Given the description of an element on the screen output the (x, y) to click on. 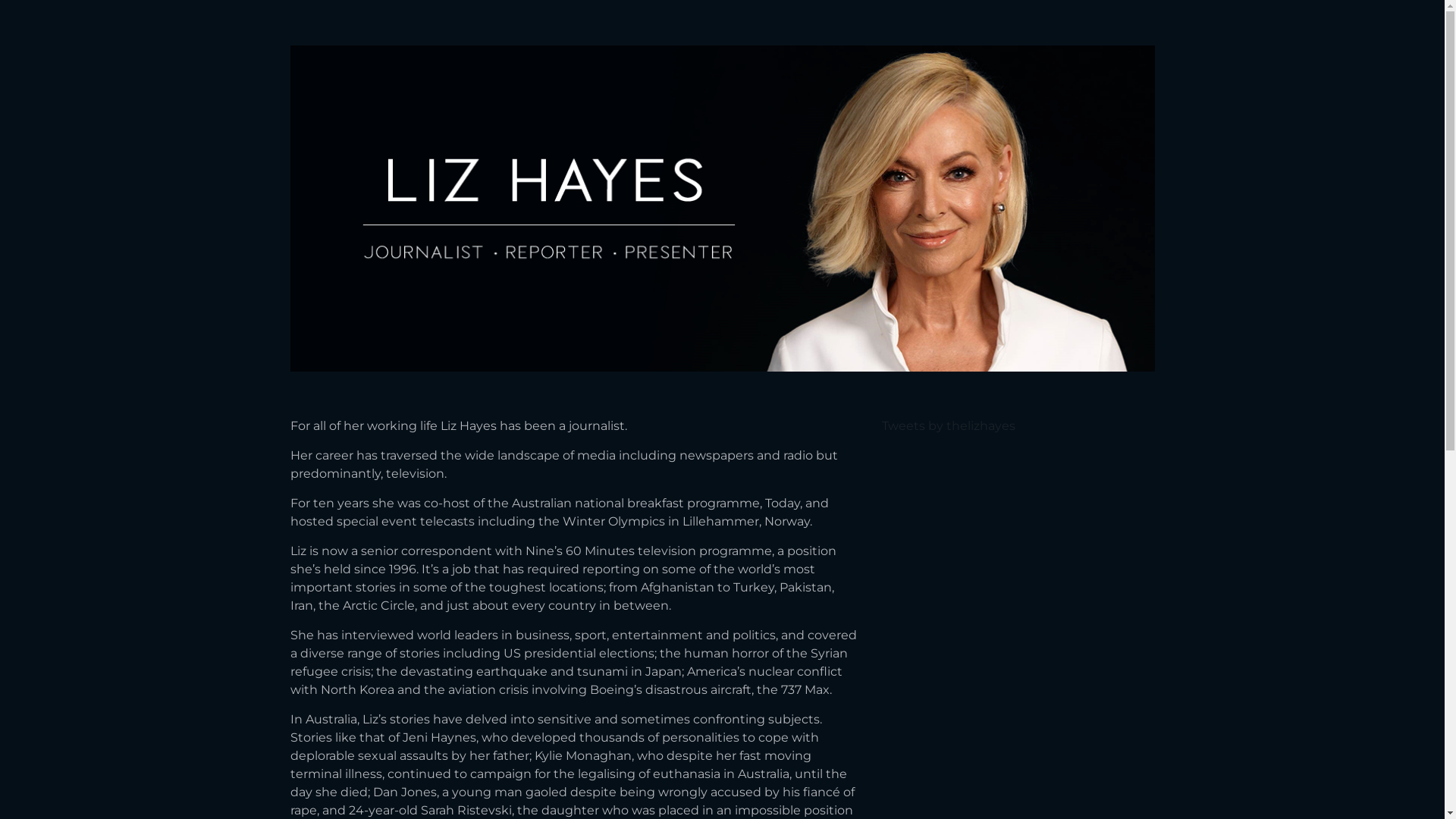
Tweets by thelizhayes Element type: text (947, 425)
